Given the description of an element on the screen output the (x, y) to click on. 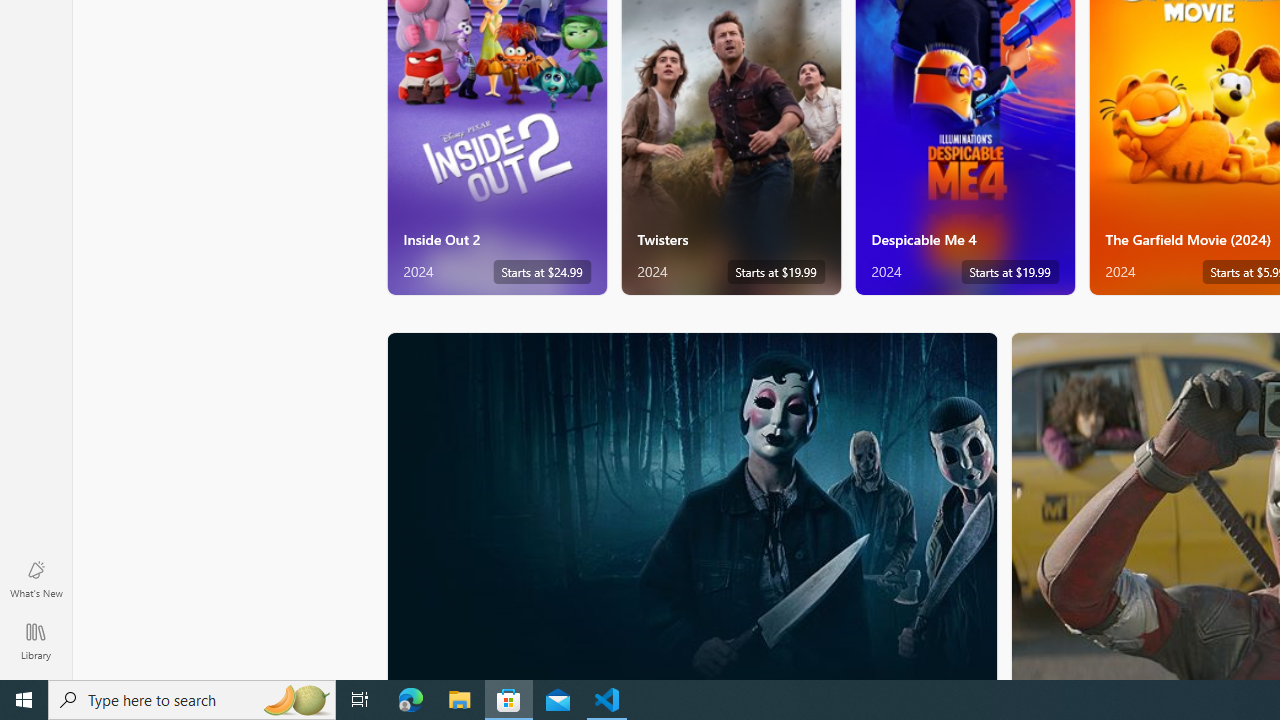
Library (35, 640)
Horror (692, 505)
AutomationID: PosterImage (690, 505)
What's New (35, 578)
